Given the description of an element on the screen output the (x, y) to click on. 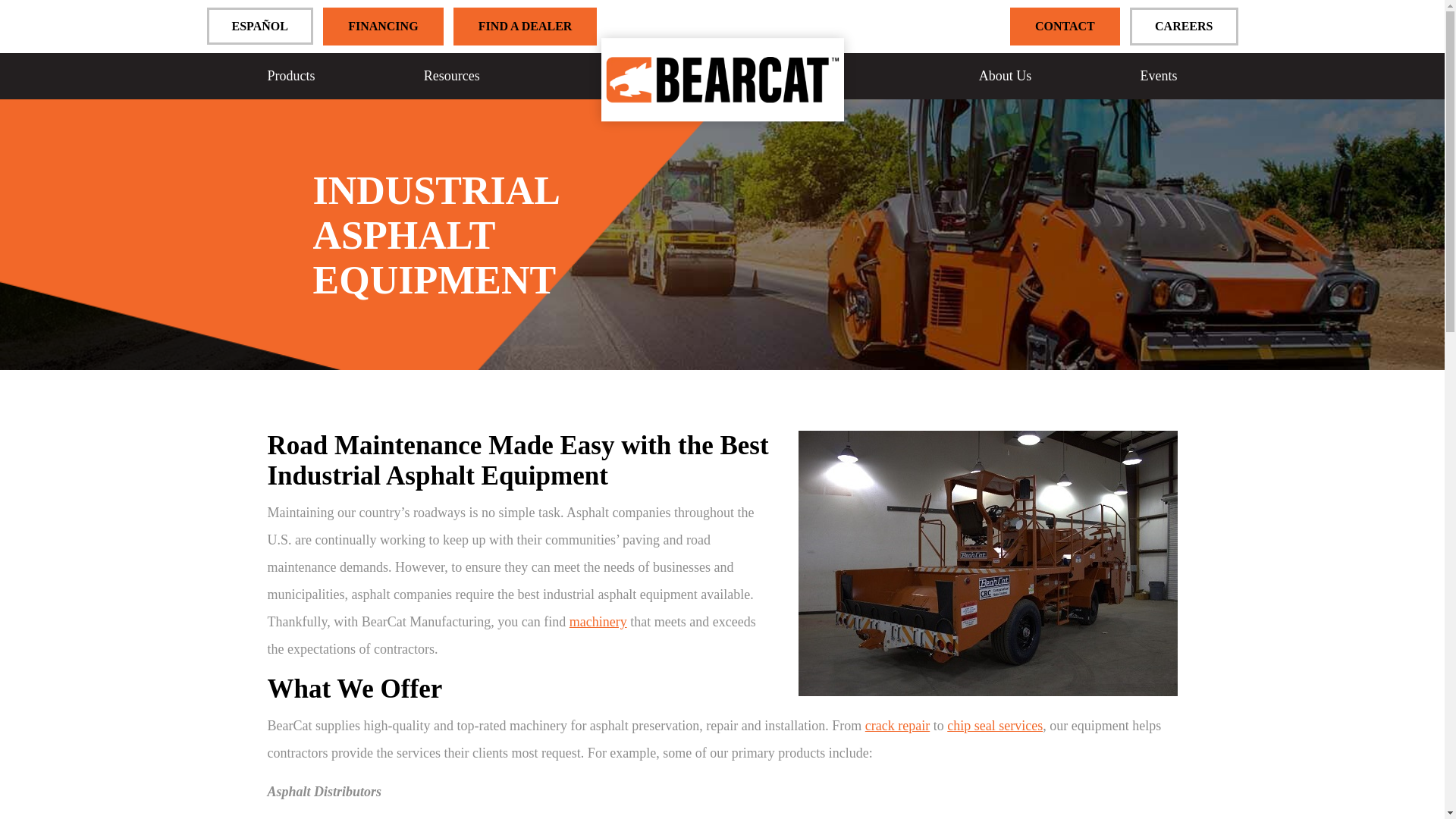
ECS-400 Rubber Crack Sealing Machine (333, 113)
ECS-250 Rubberized Crack Seal Machine (333, 112)
Cold-in-Place Recycling (270, 112)
Dust Control Spray Systems (325, 113)
BC-502 Asphalt Distributor (325, 112)
Asphalt Distributors (311, 112)
Chip Spreaders (311, 113)
Precoat Chip Foaming System (270, 113)
About Us (1005, 75)
Schematics (438, 113)
Training (1155, 112)
FIND A DEALER (524, 26)
About Etnyre International (1033, 112)
Resources (451, 75)
Events (1158, 75)
